Given the description of an element on the screen output the (x, y) to click on. 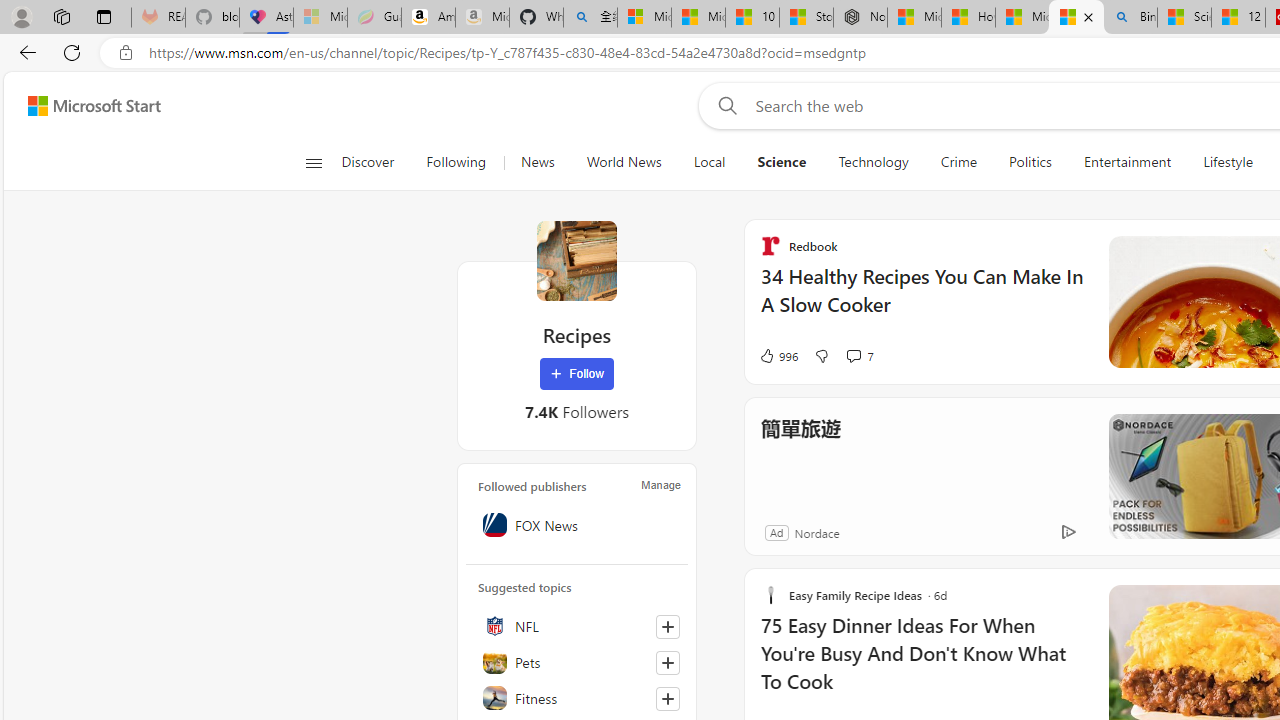
FOX News (577, 525)
Bing (1130, 17)
996 Like (778, 355)
View comments 7 Comment (859, 355)
